Given the description of an element on the screen output the (x, y) to click on. 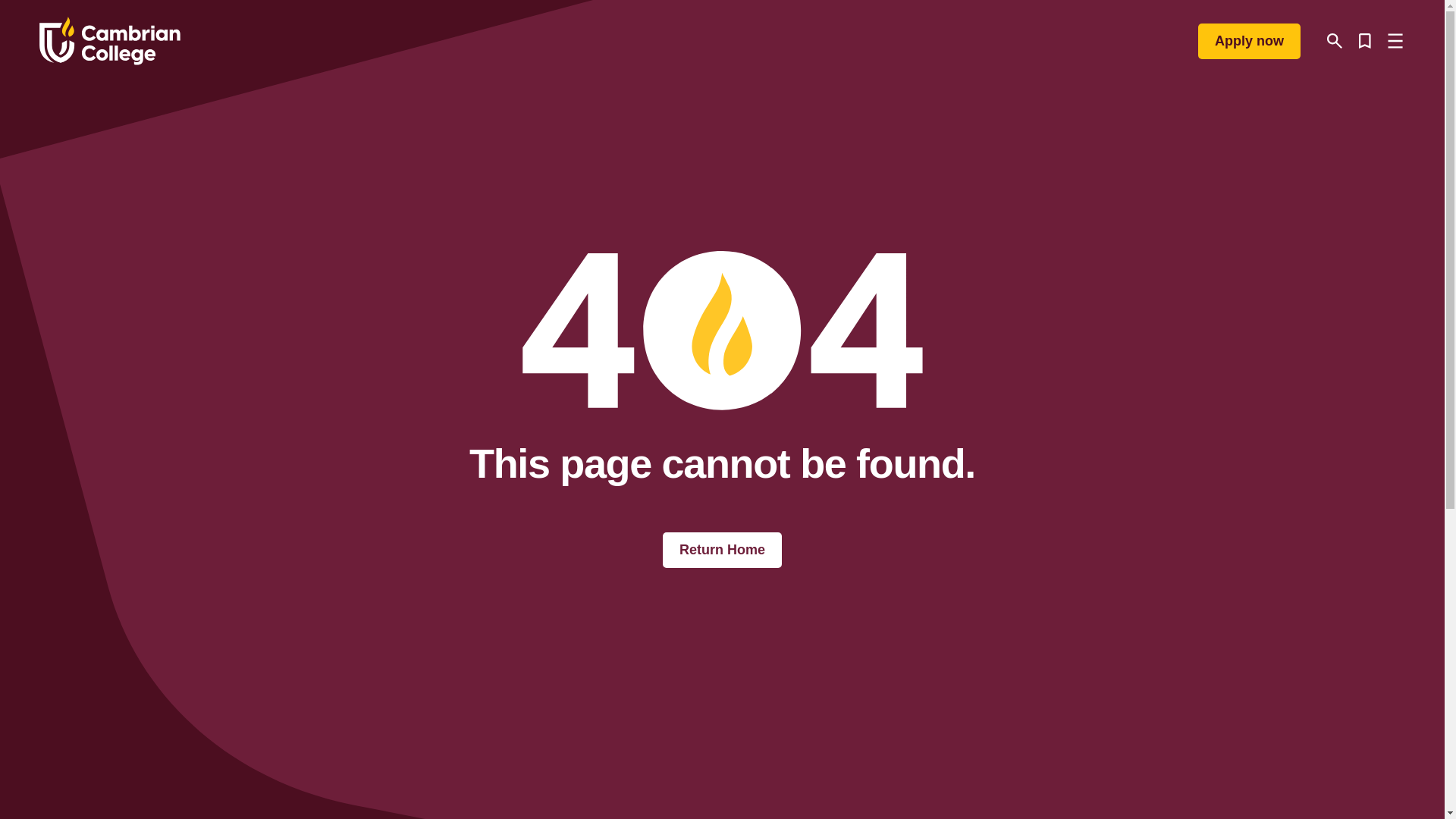
Apply now (1249, 40)
Saved Programs (1364, 40)
Return Home (721, 550)
Search (1334, 40)
Open Menu (1395, 40)
